Given the description of an element on the screen output the (x, y) to click on. 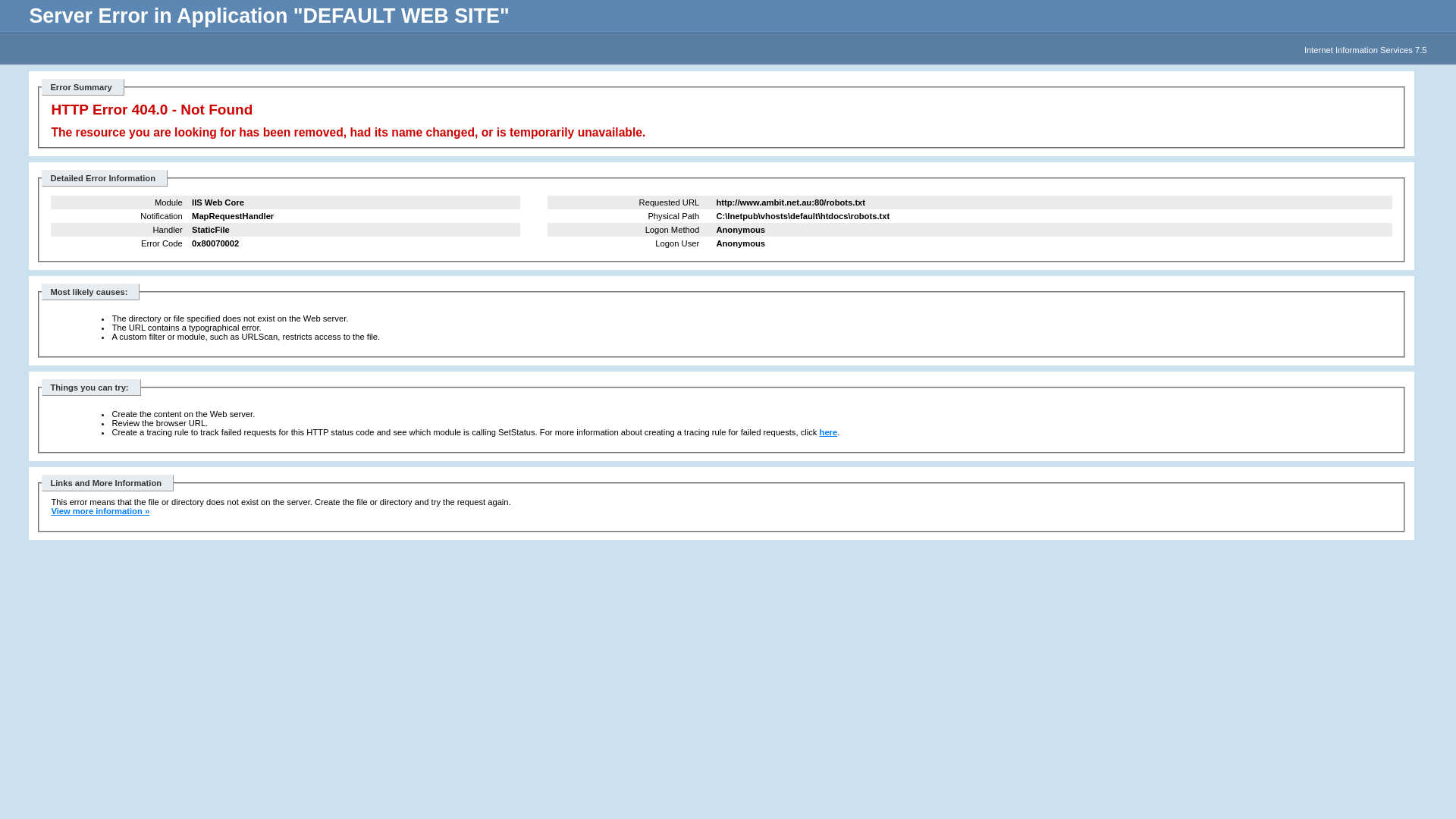
here Element type: text (828, 431)
